Given the description of an element on the screen output the (x, y) to click on. 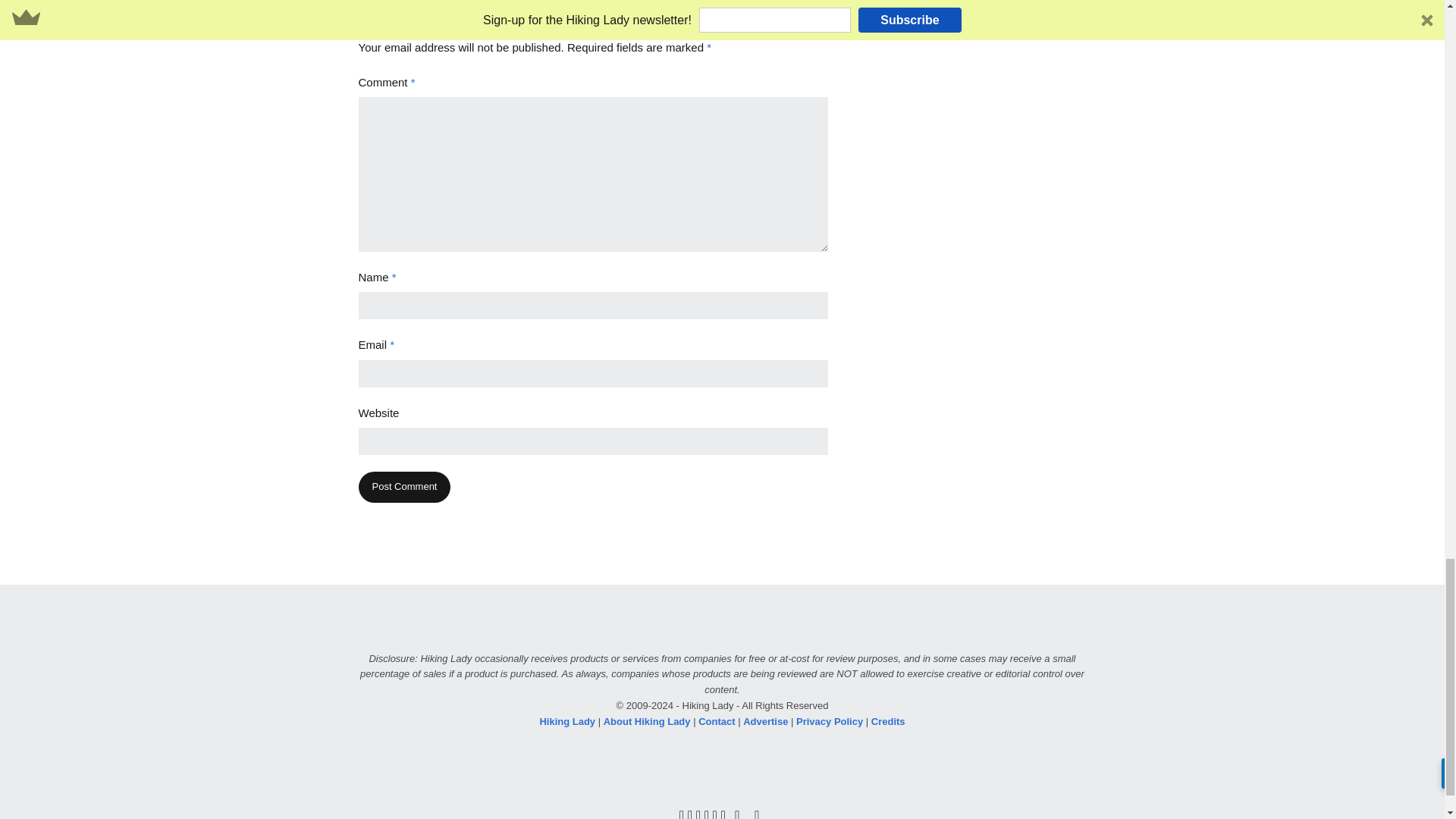
Post Comment (403, 486)
